Given the description of an element on the screen output the (x, y) to click on. 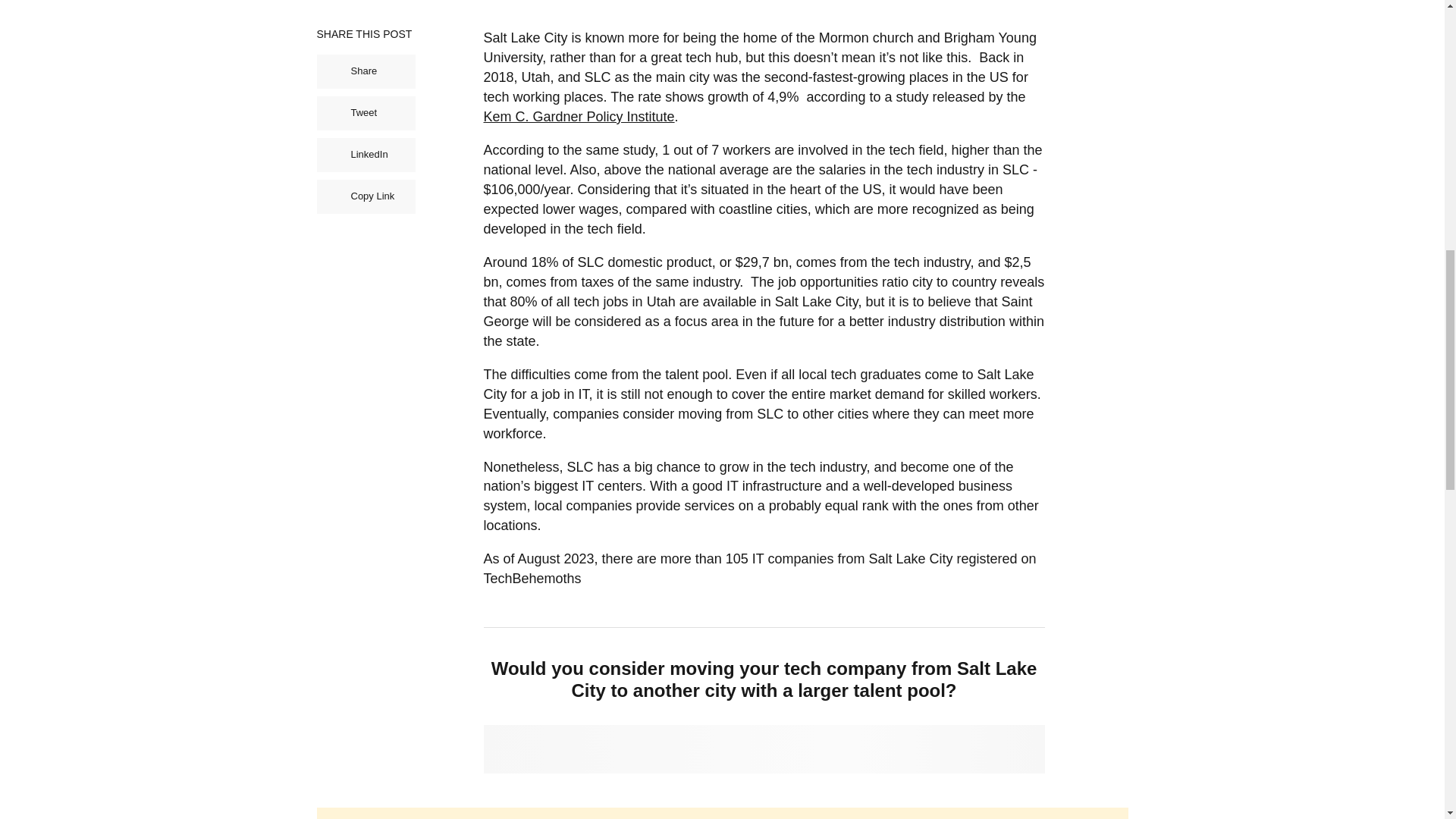
Share (365, 71)
Tweet (365, 113)
LinkedIn (365, 154)
